Given the description of an element on the screen output the (x, y) to click on. 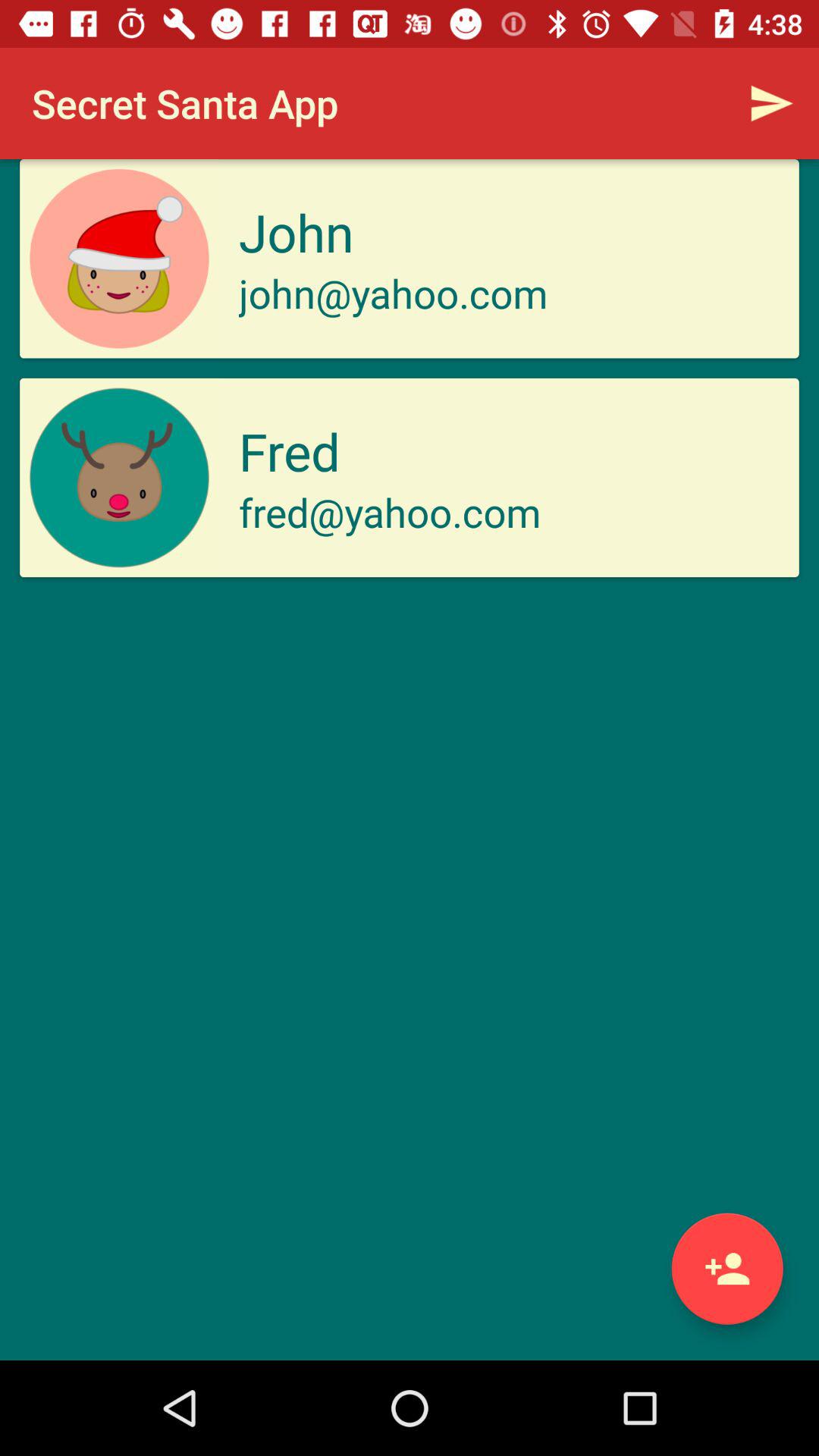
open the item at the top right corner (771, 103)
